Given the description of an element on the screen output the (x, y) to click on. 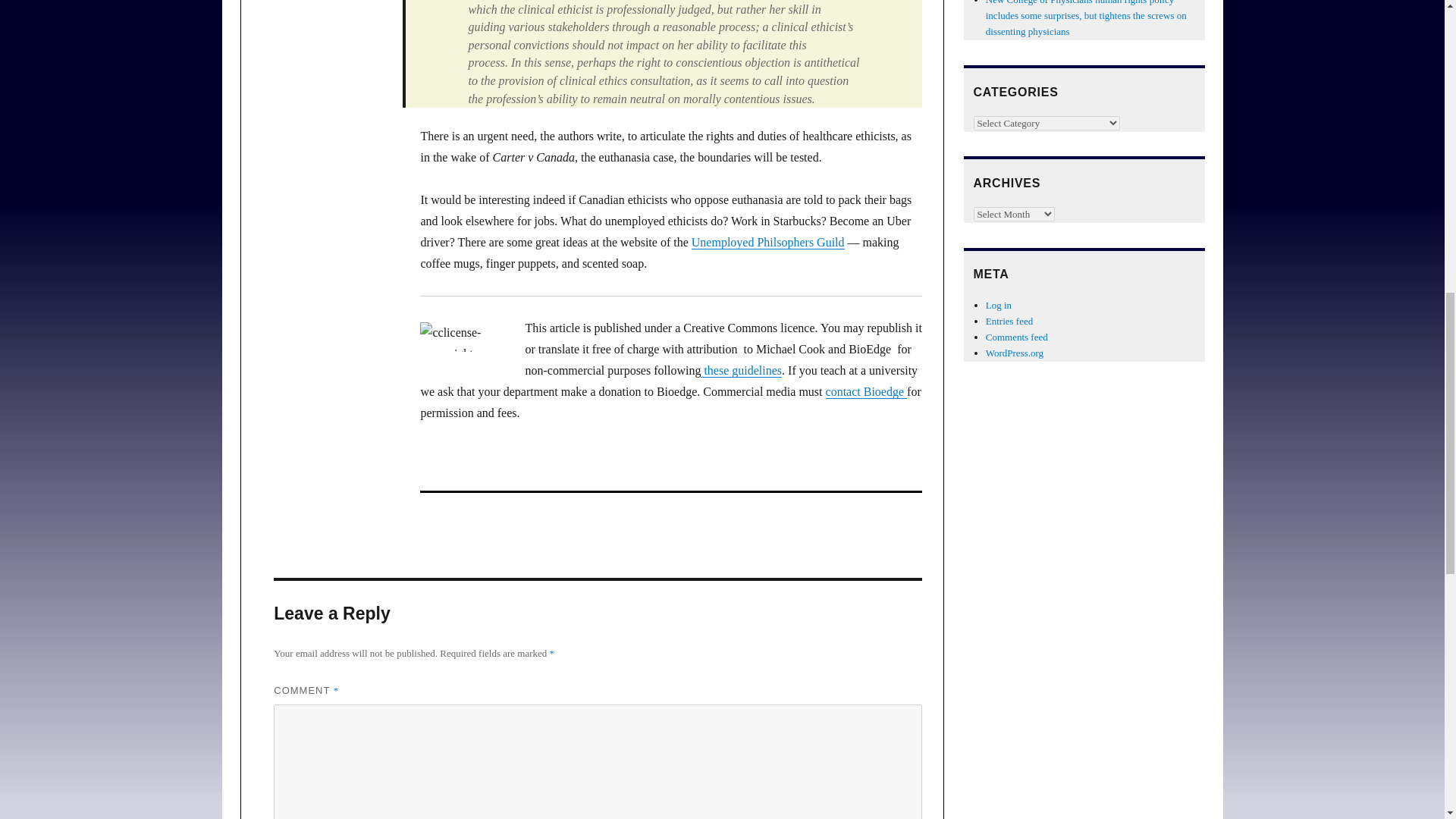
Unemployed Philsophers Guild (767, 241)
these guidelines (740, 369)
contact Bioedge (866, 391)
